Given the description of an element on the screen output the (x, y) to click on. 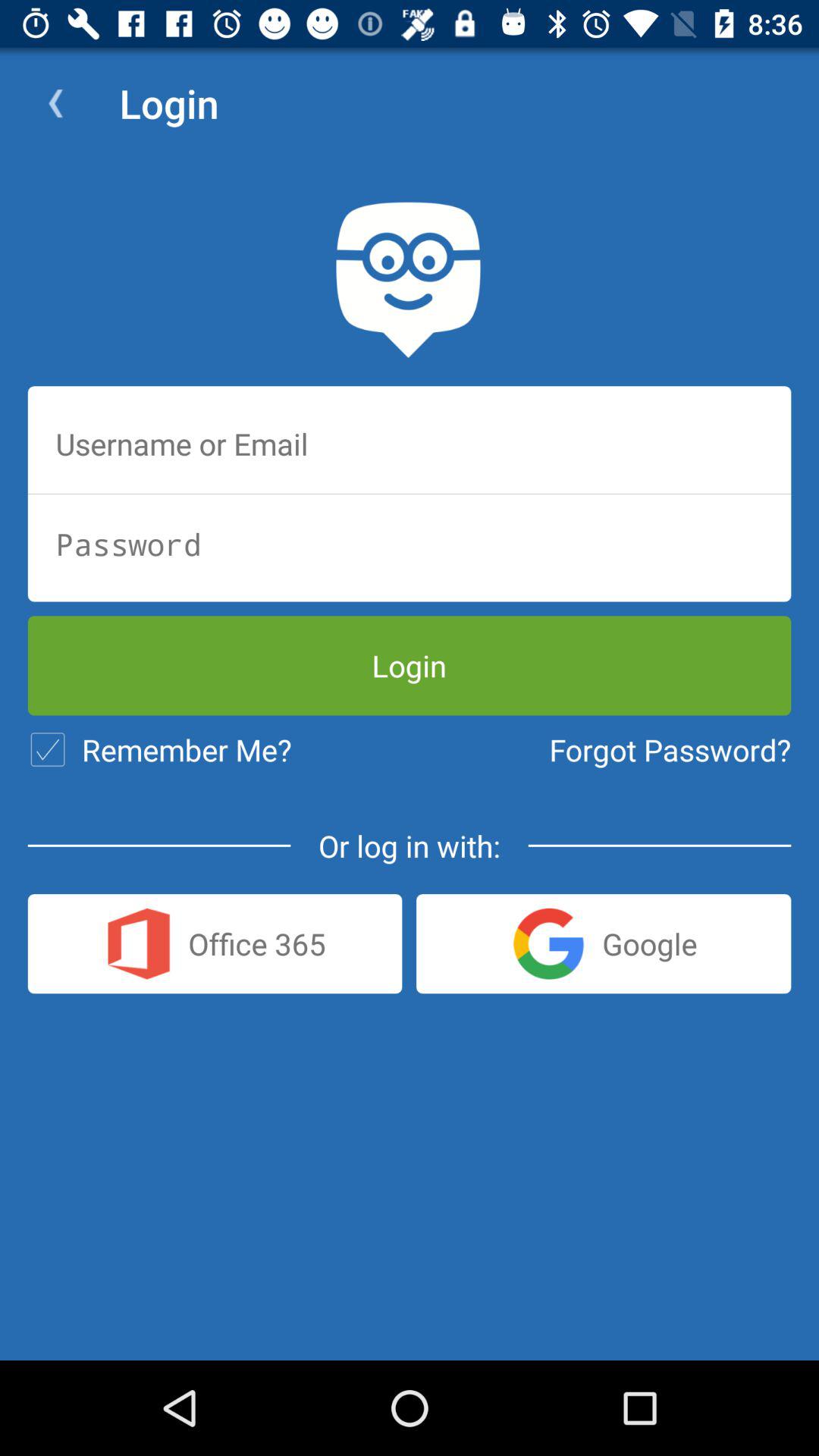
input password (409, 543)
